Given the description of an element on the screen output the (x, y) to click on. 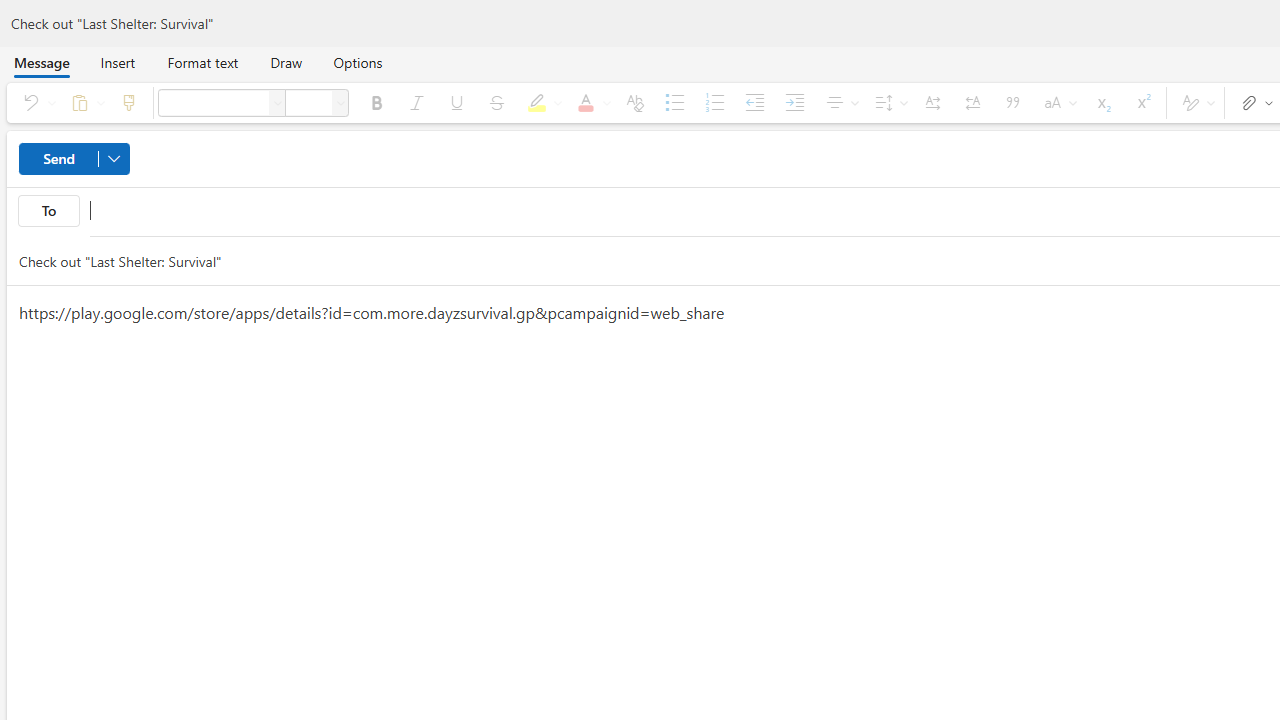
Font (277, 102)
Styles (1195, 102)
Numbering (714, 102)
Change case (1056, 102)
Strikethrough (497, 102)
Font size (308, 102)
Options (357, 61)
Left-to-right (932, 102)
Format text (202, 61)
Bold (376, 102)
Format painter (128, 102)
Undo (35, 102)
Draw (285, 61)
Send (74, 158)
